Given the description of an element on the screen output the (x, y) to click on. 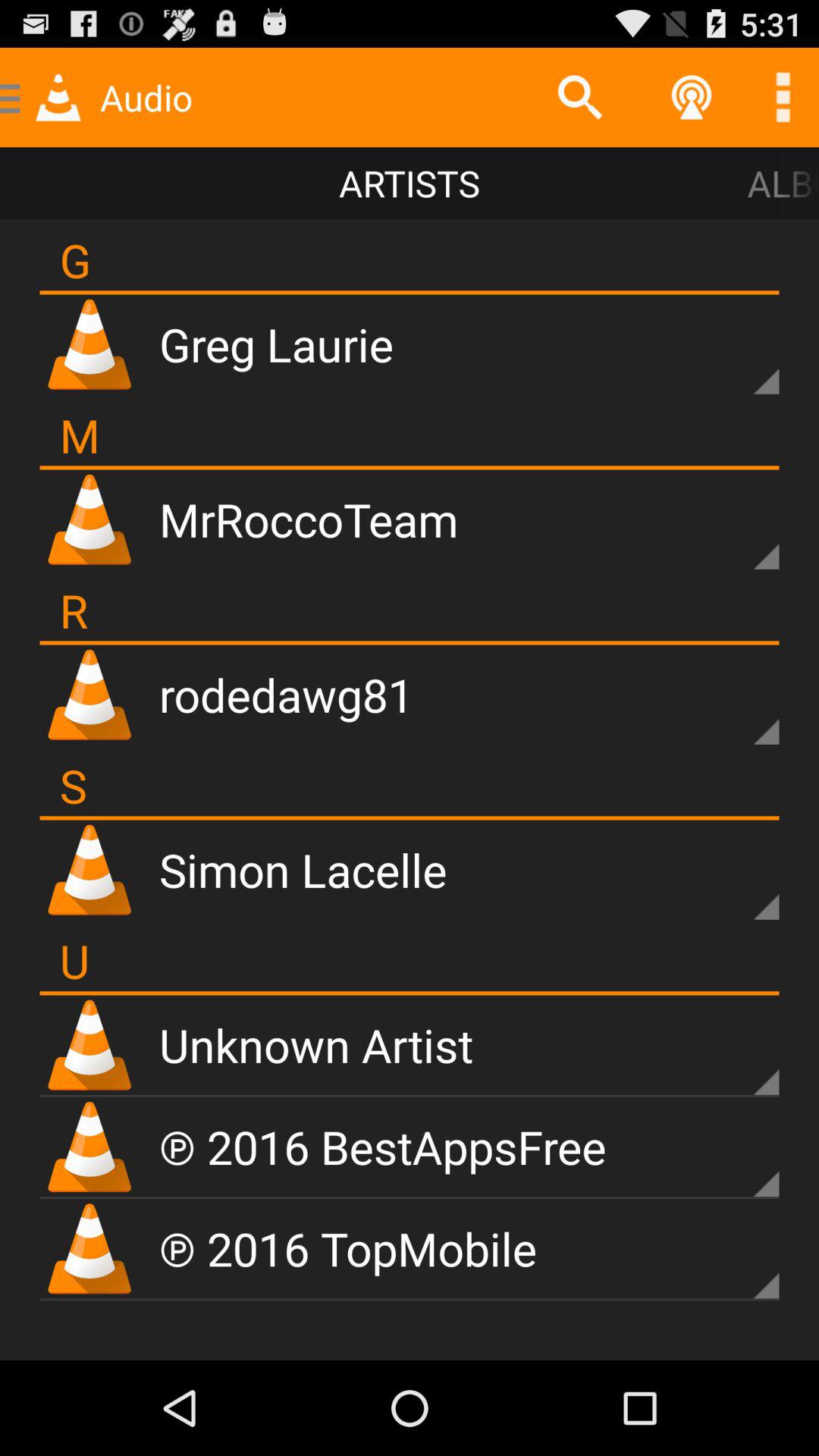
expands mrroccoteam playlist (740, 530)
